Given the description of an element on the screen output the (x, y) to click on. 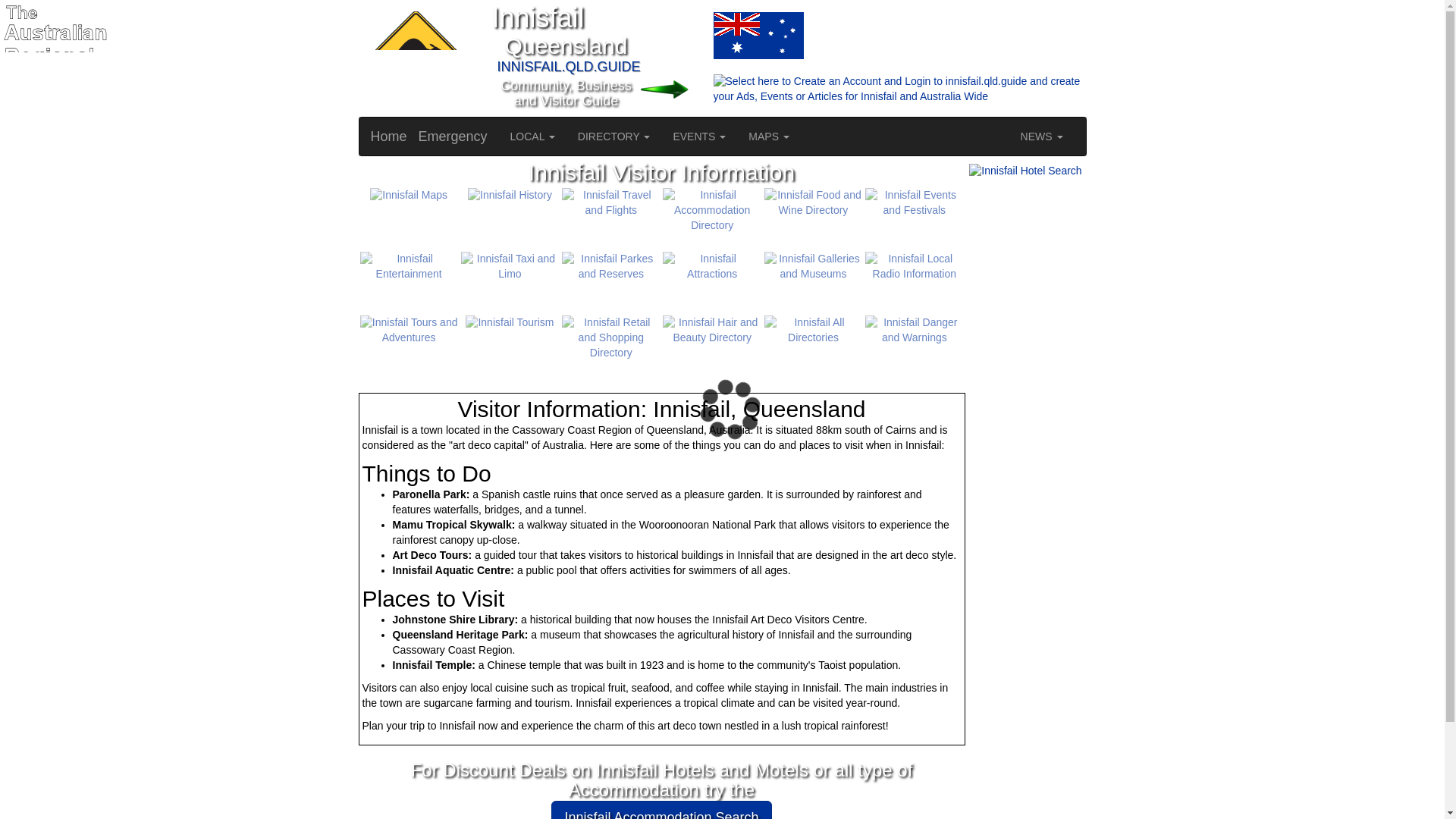
Innisfail Hotel Search Engine (1025, 171)
DIRECTORY (614, 136)
Home (389, 136)
Australia (676, 35)
Innisfail Skippycoin ICG (413, 58)
LOCAL (532, 136)
Innisfail Australia (758, 35)
Emergency (453, 136)
Login to innisfail.qld.guide (676, 89)
